Given the description of an element on the screen output the (x, y) to click on. 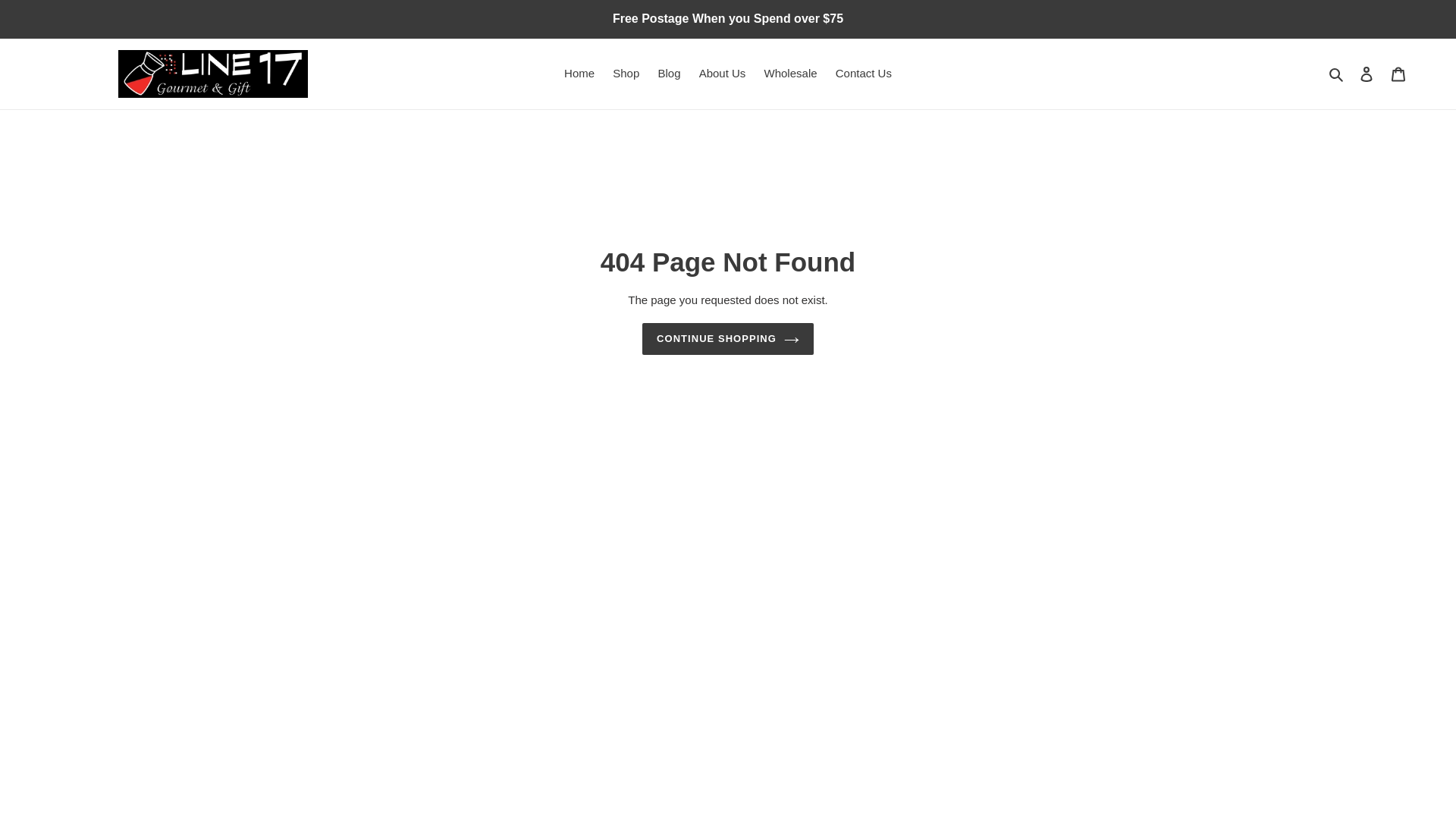
Search (1337, 73)
Blog (668, 74)
CONTINUE SHOPPING (727, 338)
Home (579, 74)
Cart (1397, 73)
About Us (722, 74)
Contact Us (863, 74)
Shop (625, 74)
Wholesale (791, 74)
Log in (1366, 73)
